Given the description of an element on the screen output the (x, y) to click on. 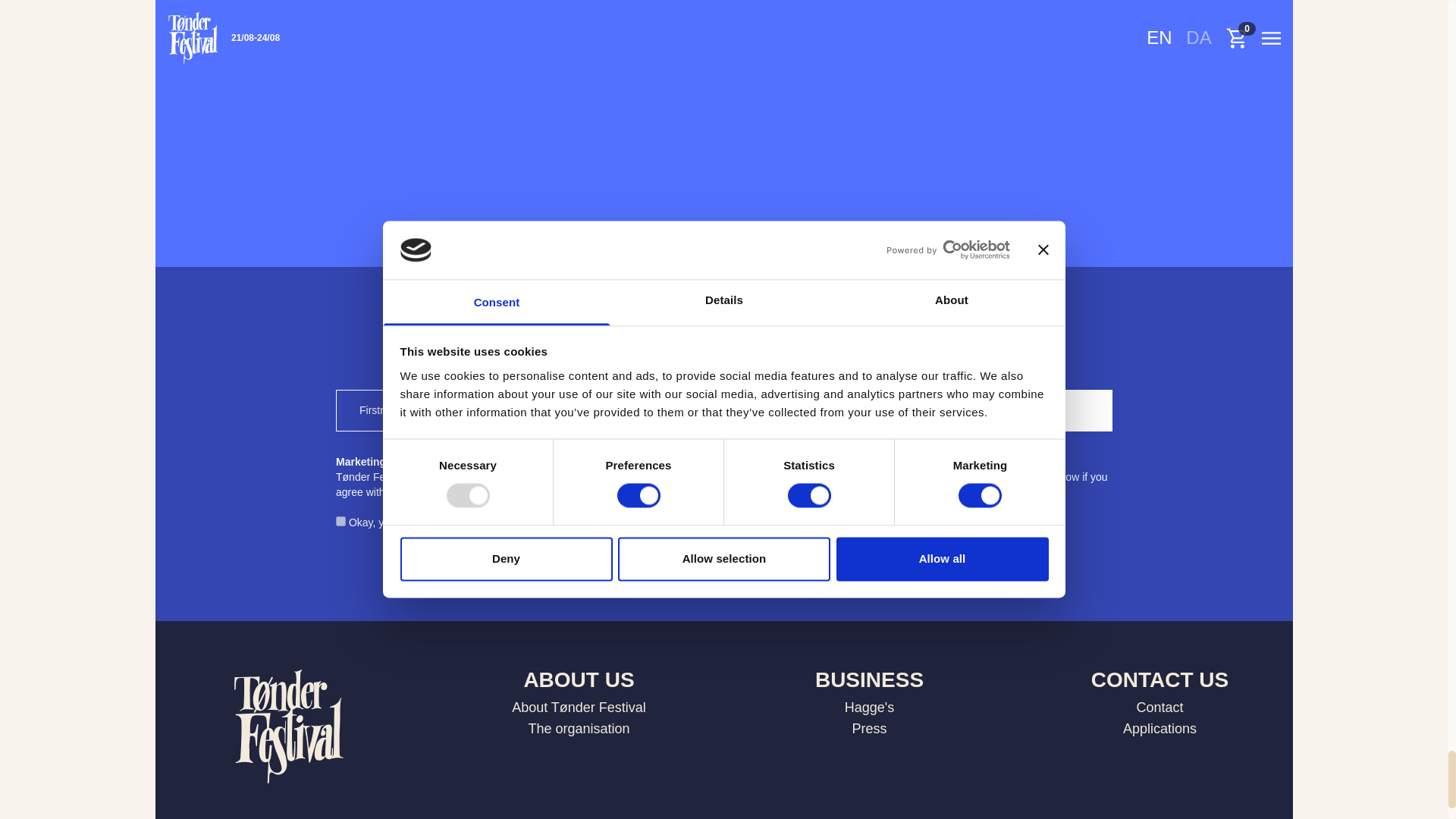
Y (341, 521)
